Given the description of an element on the screen output the (x, y) to click on. 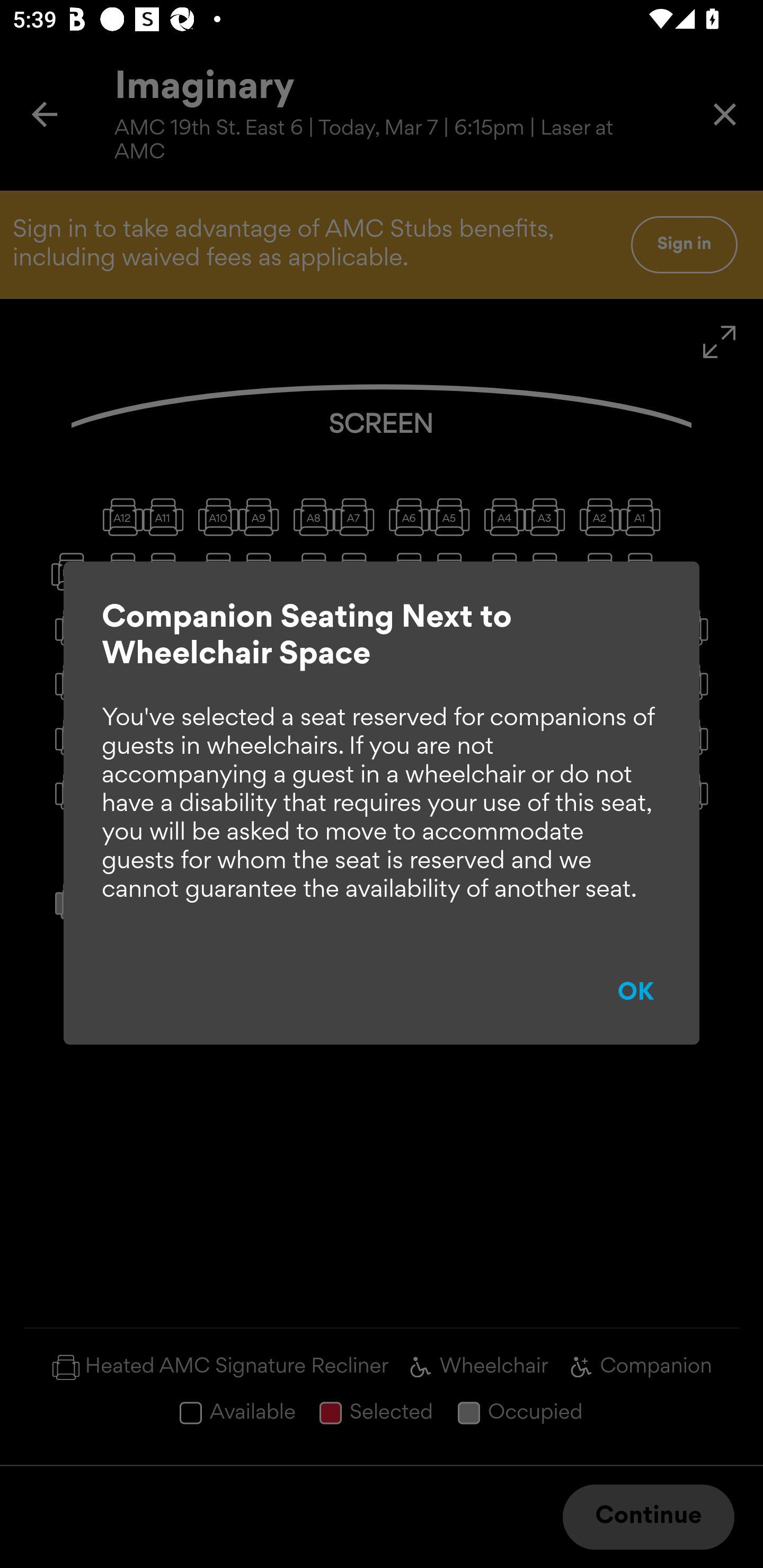
OK (635, 992)
